Given the description of an element on the screen output the (x, y) to click on. 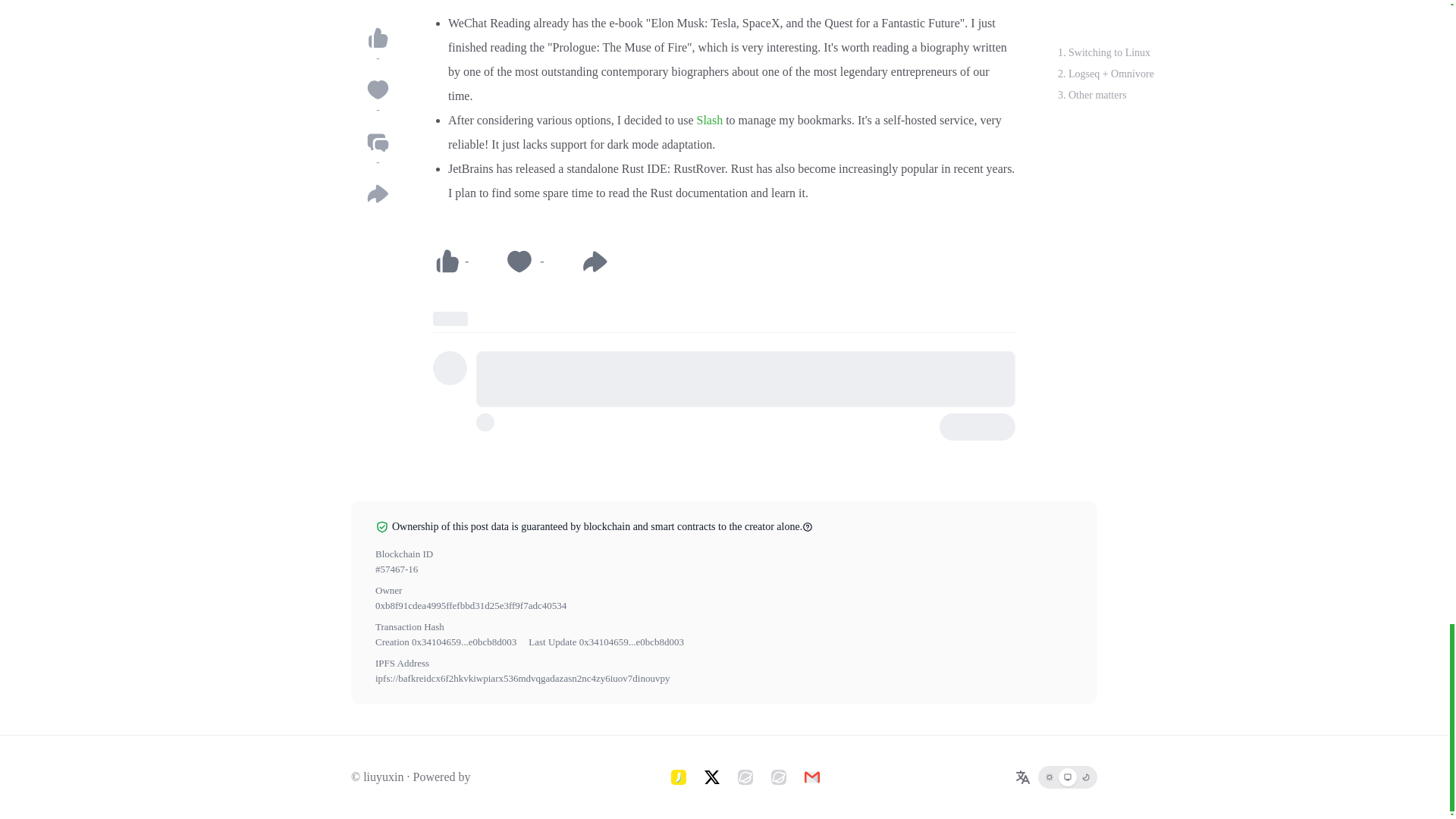
- (524, 261)
Slash (708, 119)
- (450, 261)
